Given the description of an element on the screen output the (x, y) to click on. 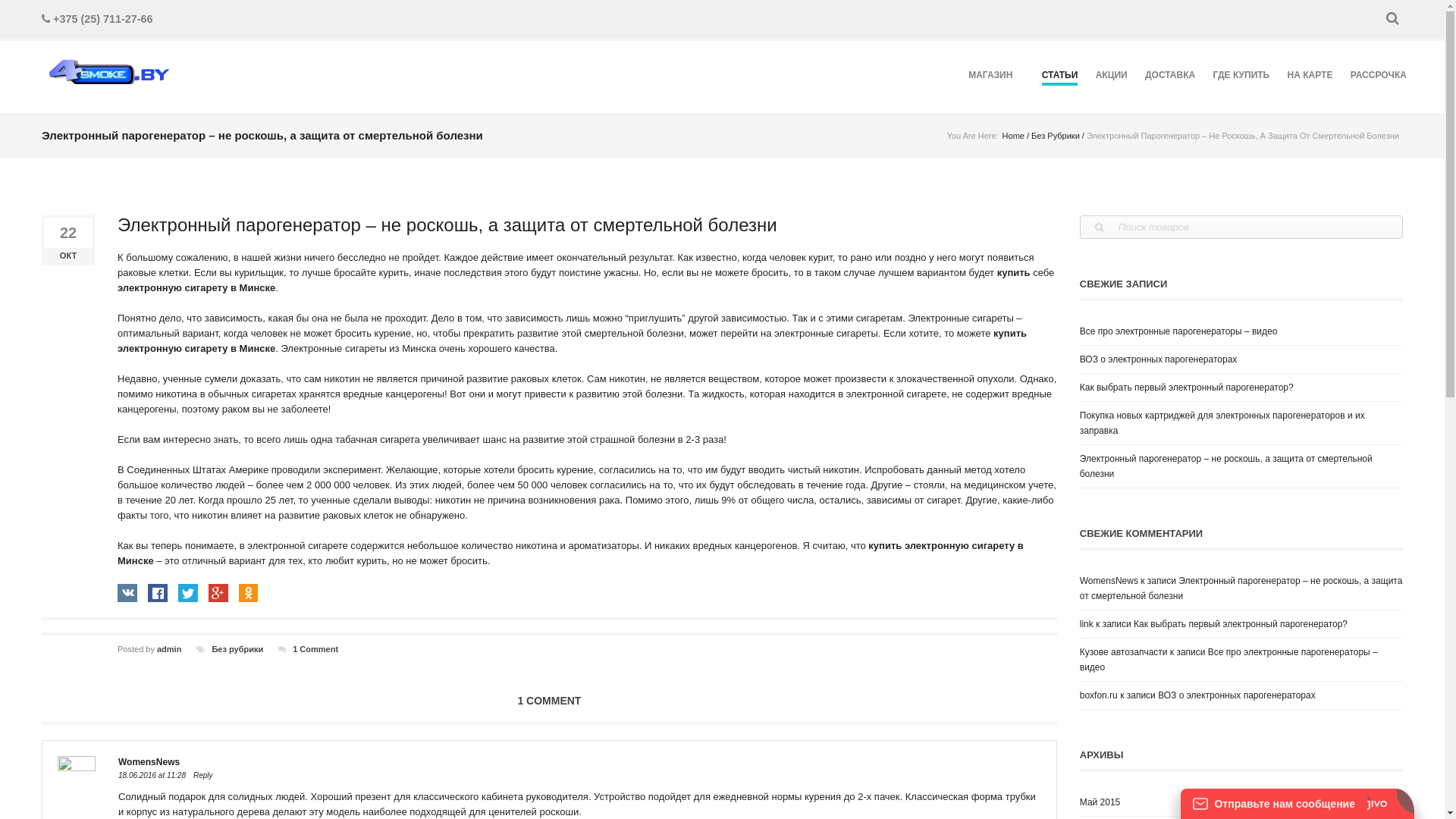
Home Element type: text (1013, 135)
Reply Element type: text (203, 775)
18.06.2016 at 11:28 Element type: text (151, 775)
1 Comment Element type: text (315, 648)
4smoke.by Element type: hover (109, 70)
admin Element type: text (168, 648)
+375 (25) 711-27-66 Element type: text (103, 18)
